Given the description of an element on the screen output the (x, y) to click on. 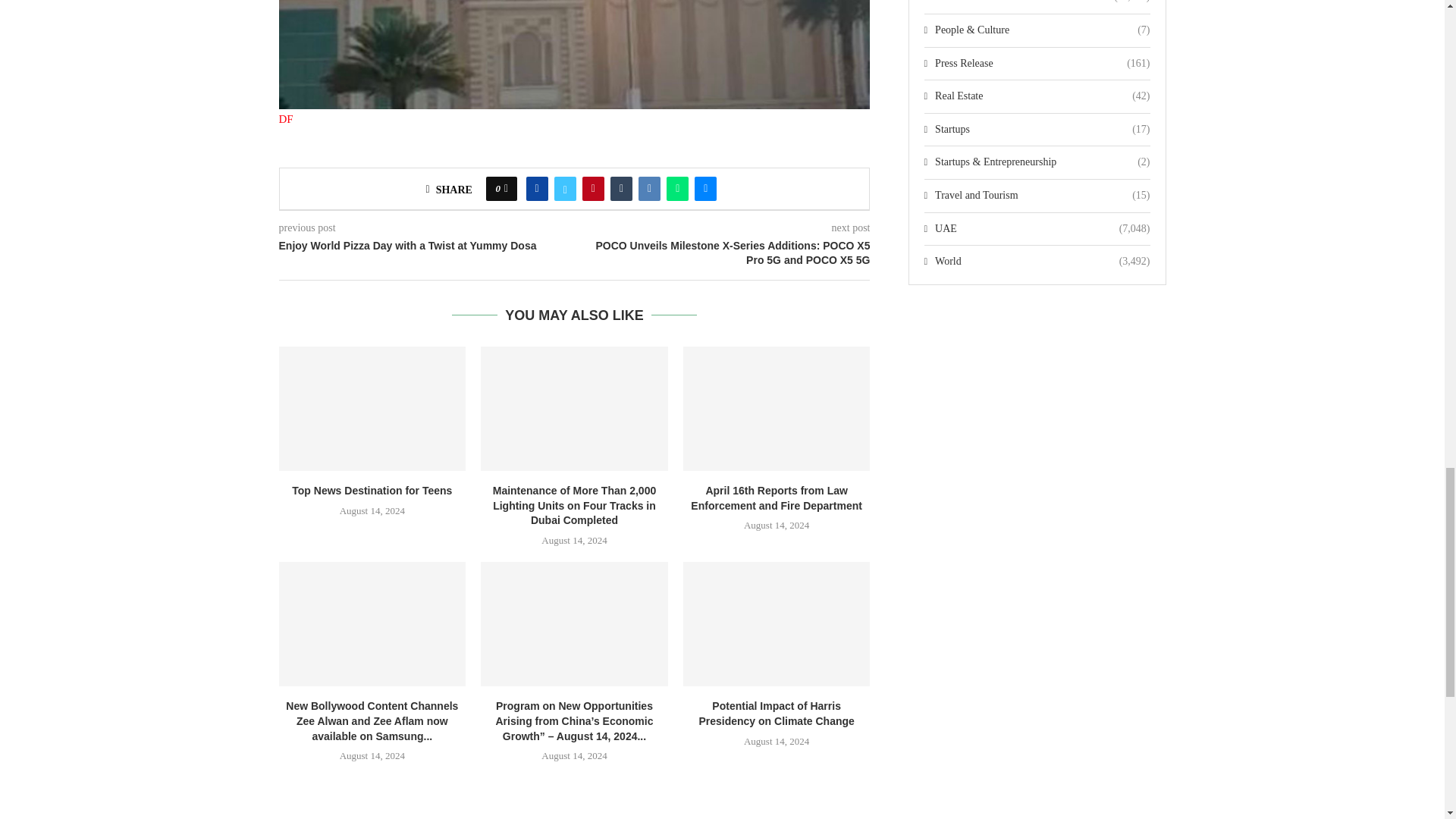
April 16th Reports from Law Enforcement and Fire Department (776, 408)
Top News Destination for Teens (372, 408)
Potential Impact of Harris Presidency on Climate Change (776, 623)
